Given the description of an element on the screen output the (x, y) to click on. 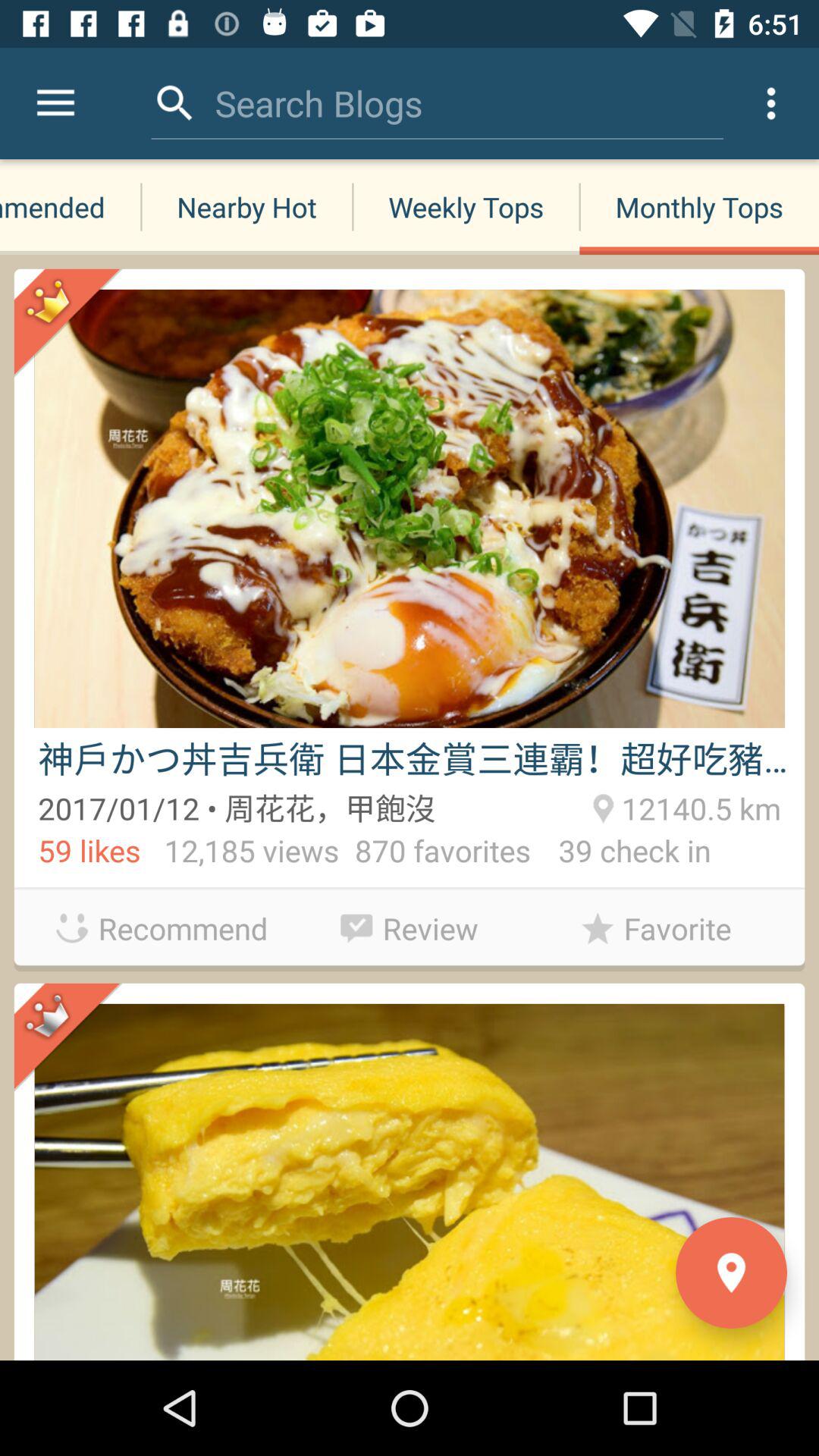
turn on item to the right of the review item (656, 928)
